Given the description of an element on the screen output the (x, y) to click on. 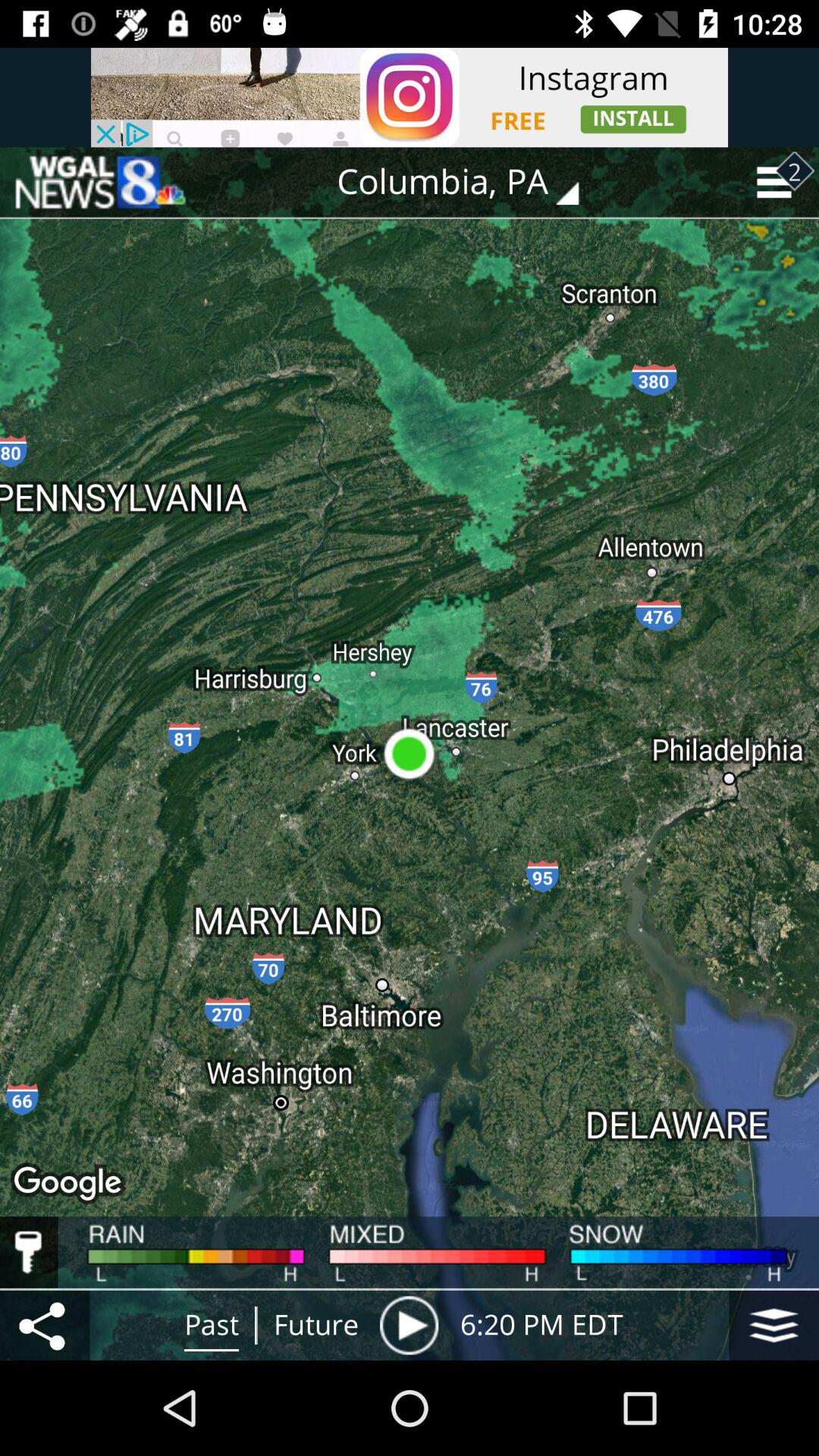
click to password button (29, 1252)
